Given the description of an element on the screen output the (x, y) to click on. 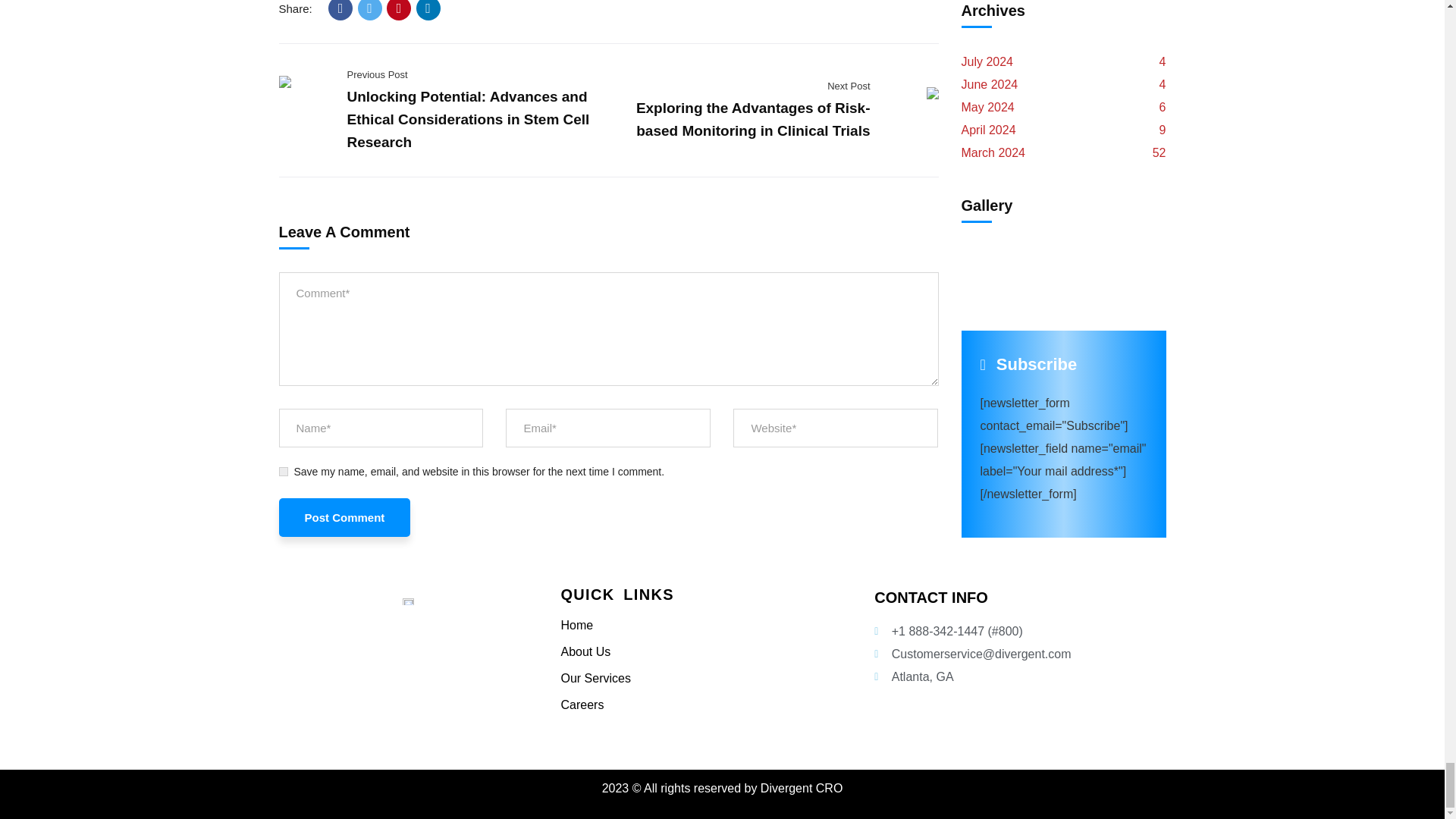
Pinterest (398, 10)
Post Comment (344, 517)
Facebook (340, 10)
LinkedIn (428, 10)
Post Comment (344, 517)
Twitter (369, 10)
